Given the description of an element on the screen output the (x, y) to click on. 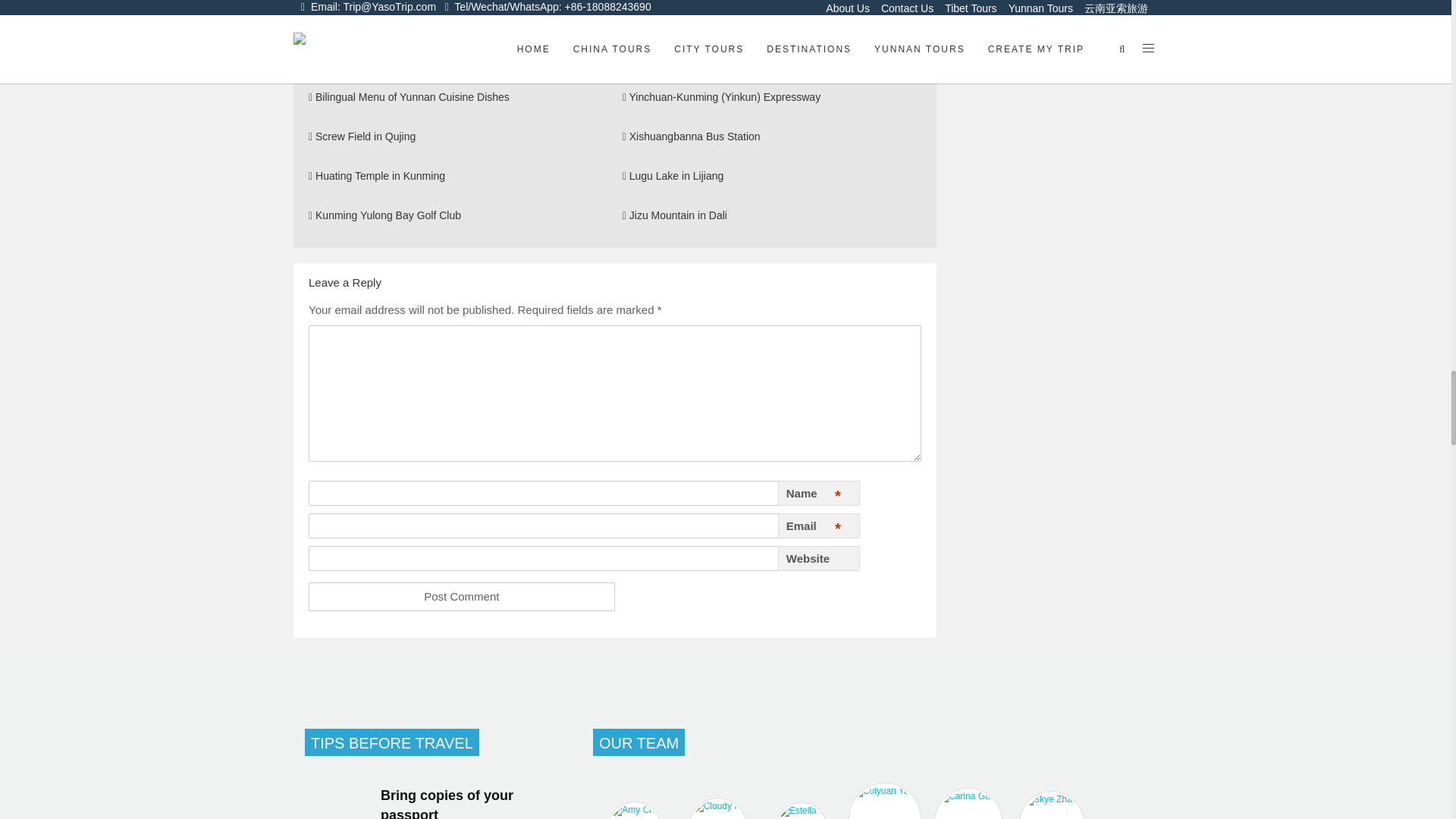
Skye Zhang (1051, 805)
Cuiyuan Yang (884, 800)
Cloudy Fu (718, 808)
Estella Li (801, 810)
Post Comment (461, 596)
Amy Cha (634, 810)
Carina Guan (968, 803)
